Given the description of an element on the screen output the (x, y) to click on. 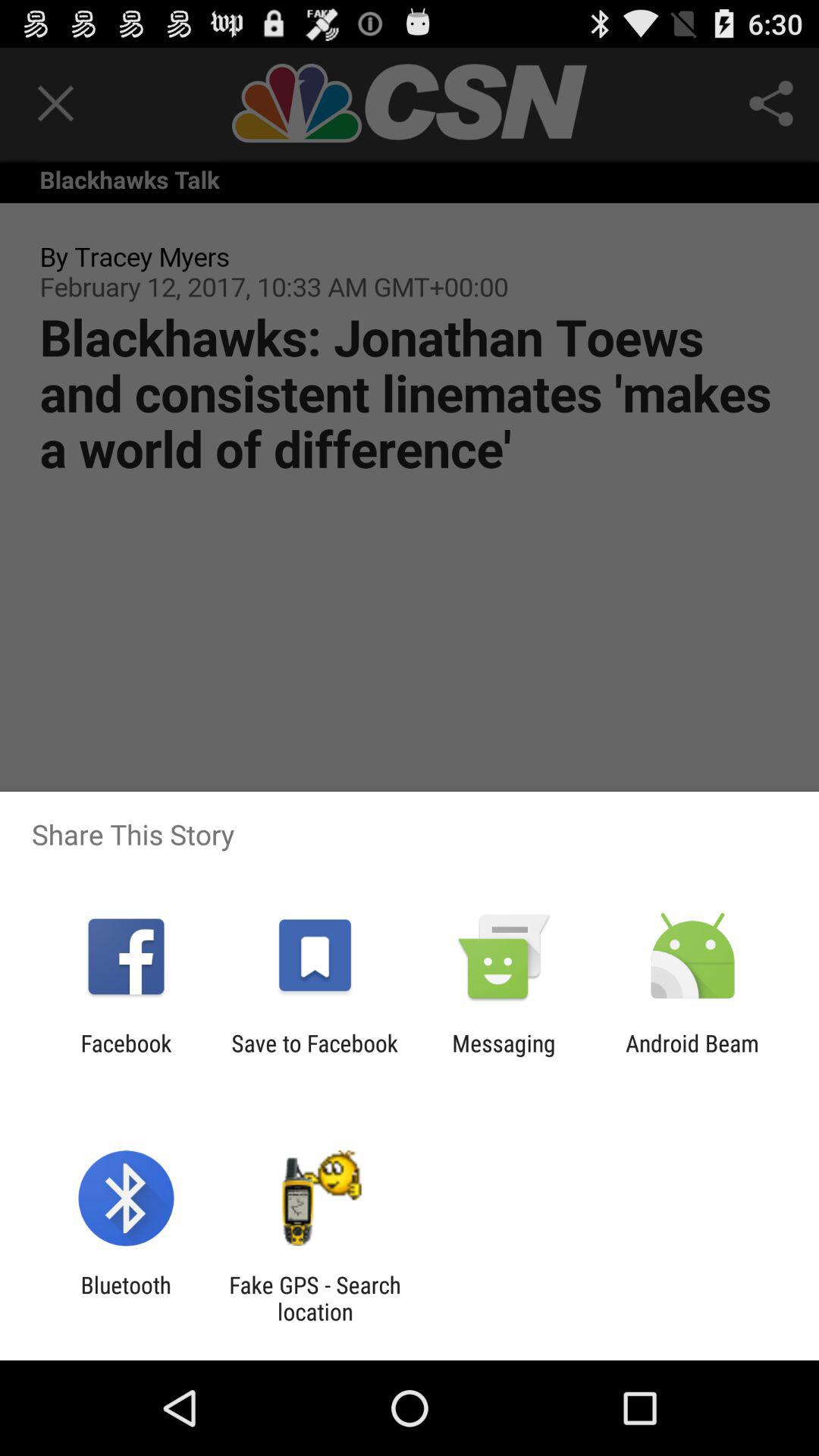
turn on the icon next to android beam (503, 1056)
